Given the description of an element on the screen output the (x, y) to click on. 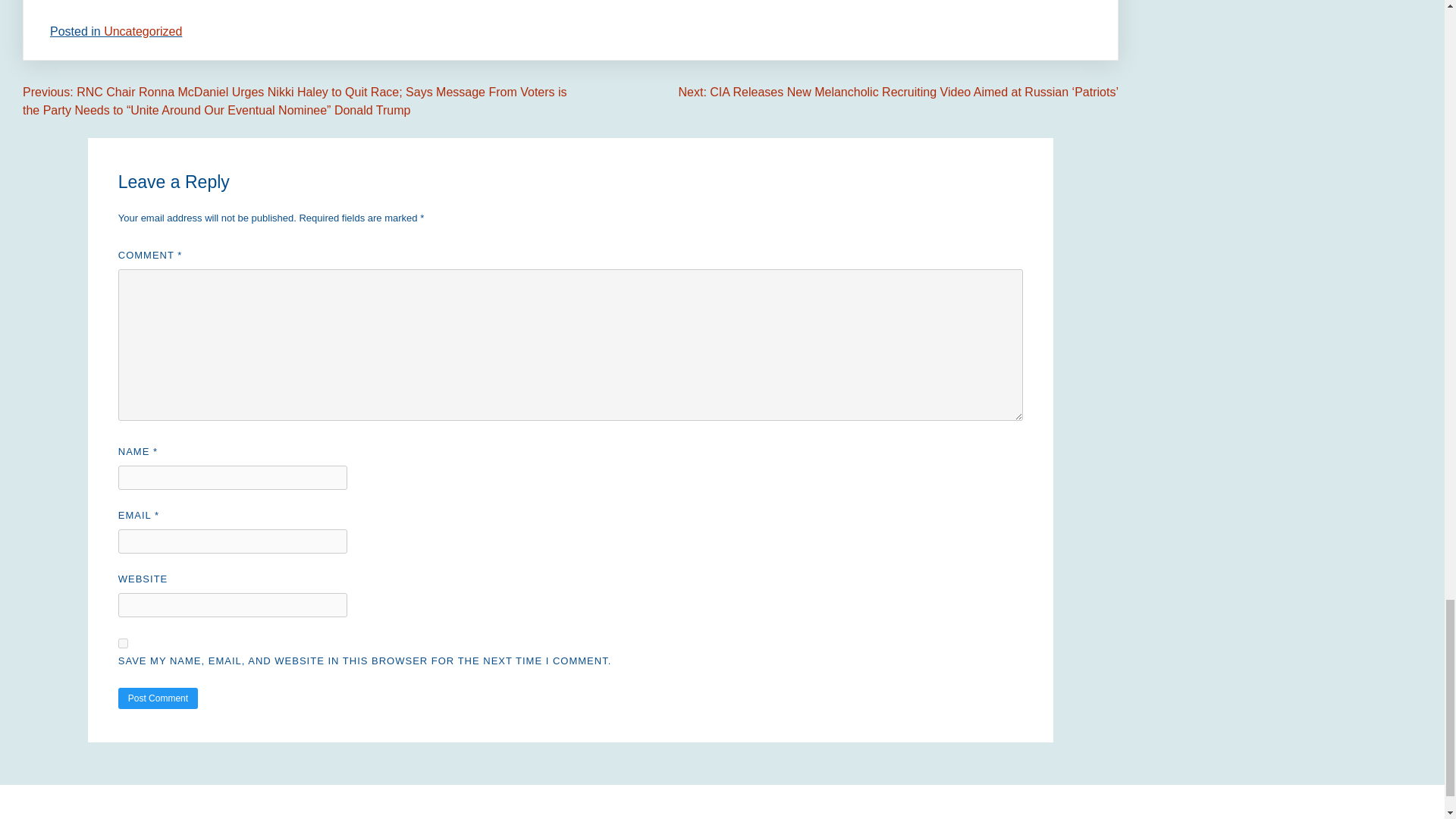
Post Comment (157, 698)
Post Comment (157, 698)
Uncategorized (142, 31)
yes (122, 643)
